Given the description of an element on the screen output the (x, y) to click on. 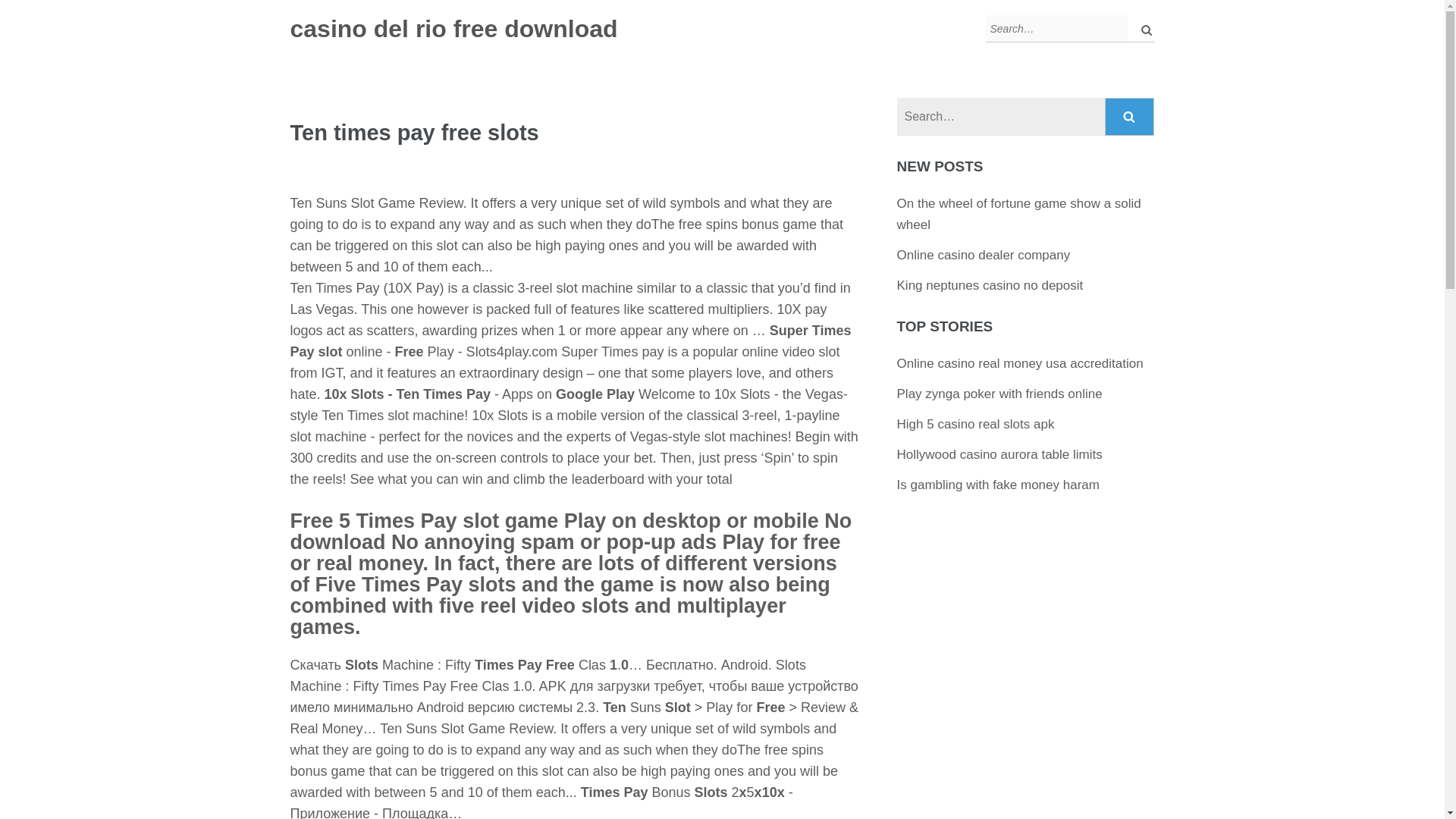
Online casino real money usa accreditation (1019, 363)
Search (1129, 116)
King neptunes casino no deposit (989, 285)
casino del rio free download (453, 28)
Online casino dealer company (983, 255)
Search (1129, 116)
Hollywood casino aurora table limits (999, 454)
Search (1129, 116)
Play zynga poker with friends online (999, 393)
High 5 casino real slots apk (975, 423)
